Given the description of an element on the screen output the (x, y) to click on. 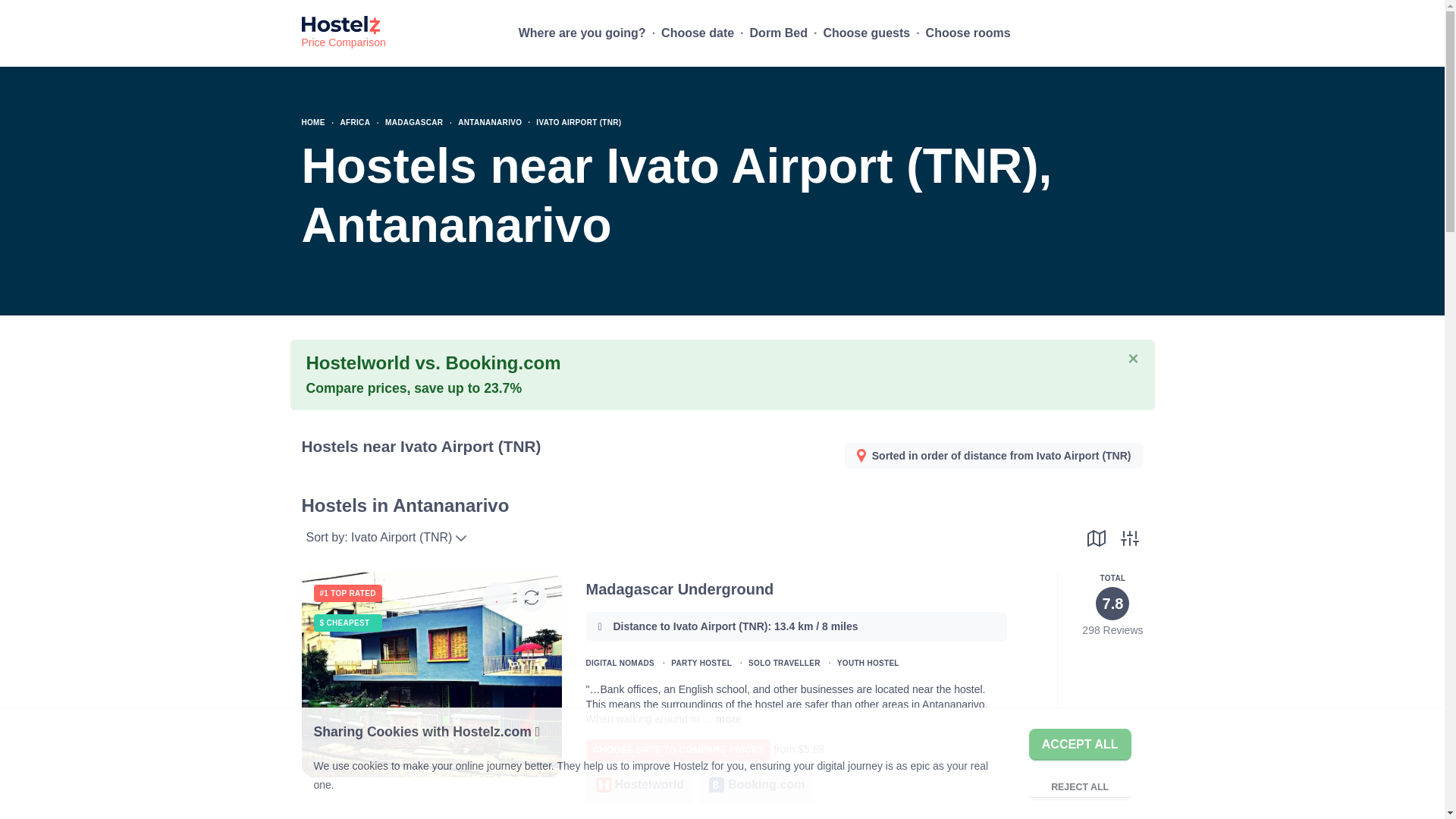
Hostelz.com - the worlds largest hostel database (343, 32)
AFRICA (355, 122)
Price Comparison (343, 32)
Madagascar Underground (679, 588)
Hostelworld (639, 785)
Madagascar Underground (431, 723)
MADAGASCAR (413, 122)
ANTANANARIVO (489, 122)
Madagascar Underground (728, 718)
Booking.com (755, 785)
